Given the description of an element on the screen output the (x, y) to click on. 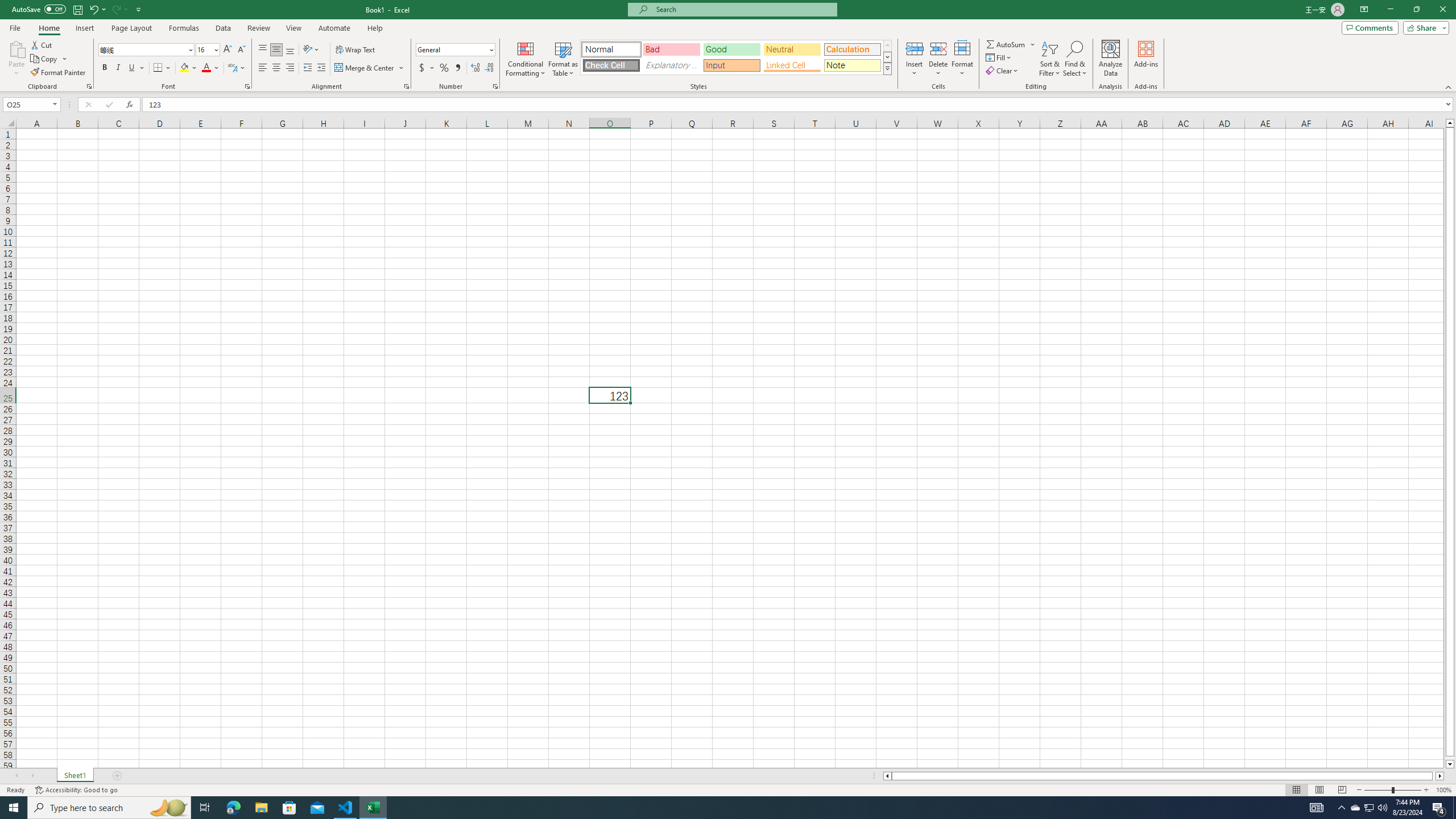
Find & Select (1075, 58)
Increase Font Size (227, 49)
Underline (136, 67)
Bottom Align (290, 49)
AutomationID: CellStylesGallery (736, 57)
Font Color (210, 67)
Percent Style (443, 67)
Bottom Border (157, 67)
